Given the description of an element on the screen output the (x, y) to click on. 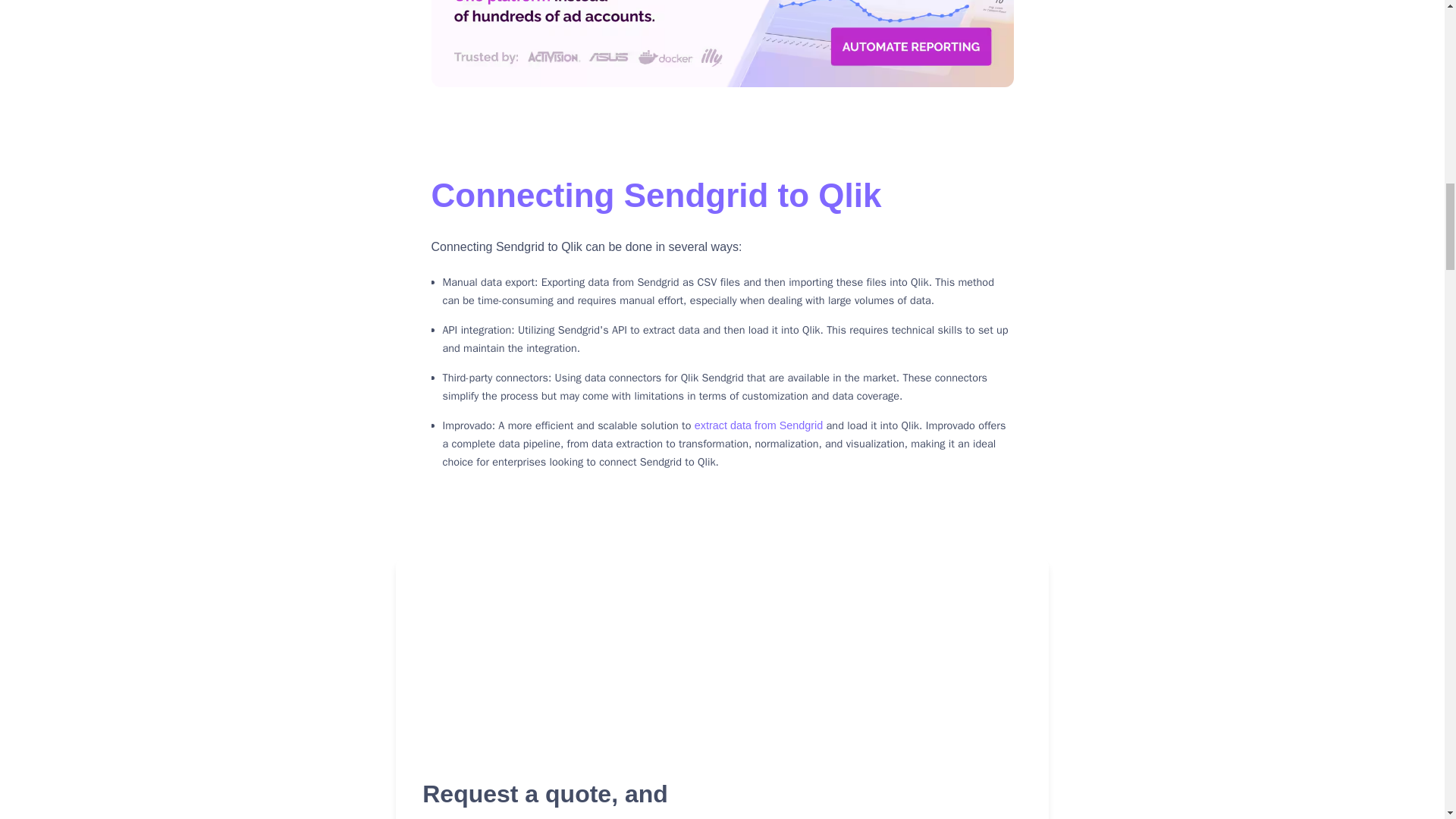
Form 0 (881, 703)
